Given the description of an element on the screen output the (x, y) to click on. 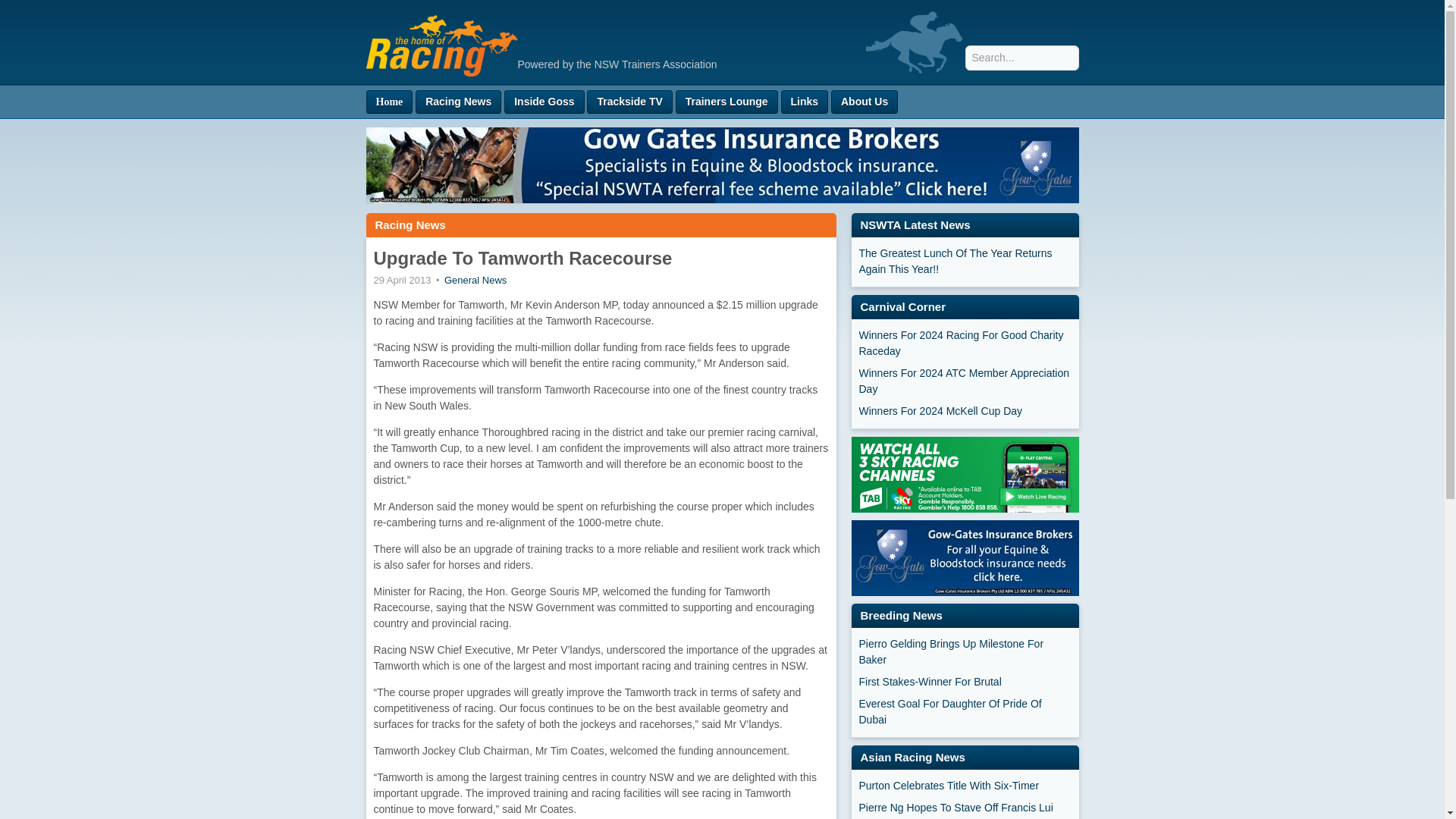
Inside Goss (543, 101)
Racing News (409, 224)
Asian Racing News (911, 757)
First Stakes-Winner For Brutal (964, 682)
Trackside TV (628, 101)
Purton Celebrates Title With Six-Timer (964, 785)
Links (804, 101)
Winners For 2024 McKell Cup Day (964, 411)
About Us (864, 101)
NSWTA Latest News (914, 224)
Winners For 2024 Racing For Good Charity Raceday (964, 343)
Trainers Lounge (726, 101)
Home (388, 101)
Everest Goal For Daughter Of Pride Of Dubai (964, 712)
Breeding News (901, 615)
